Given the description of an element on the screen output the (x, y) to click on. 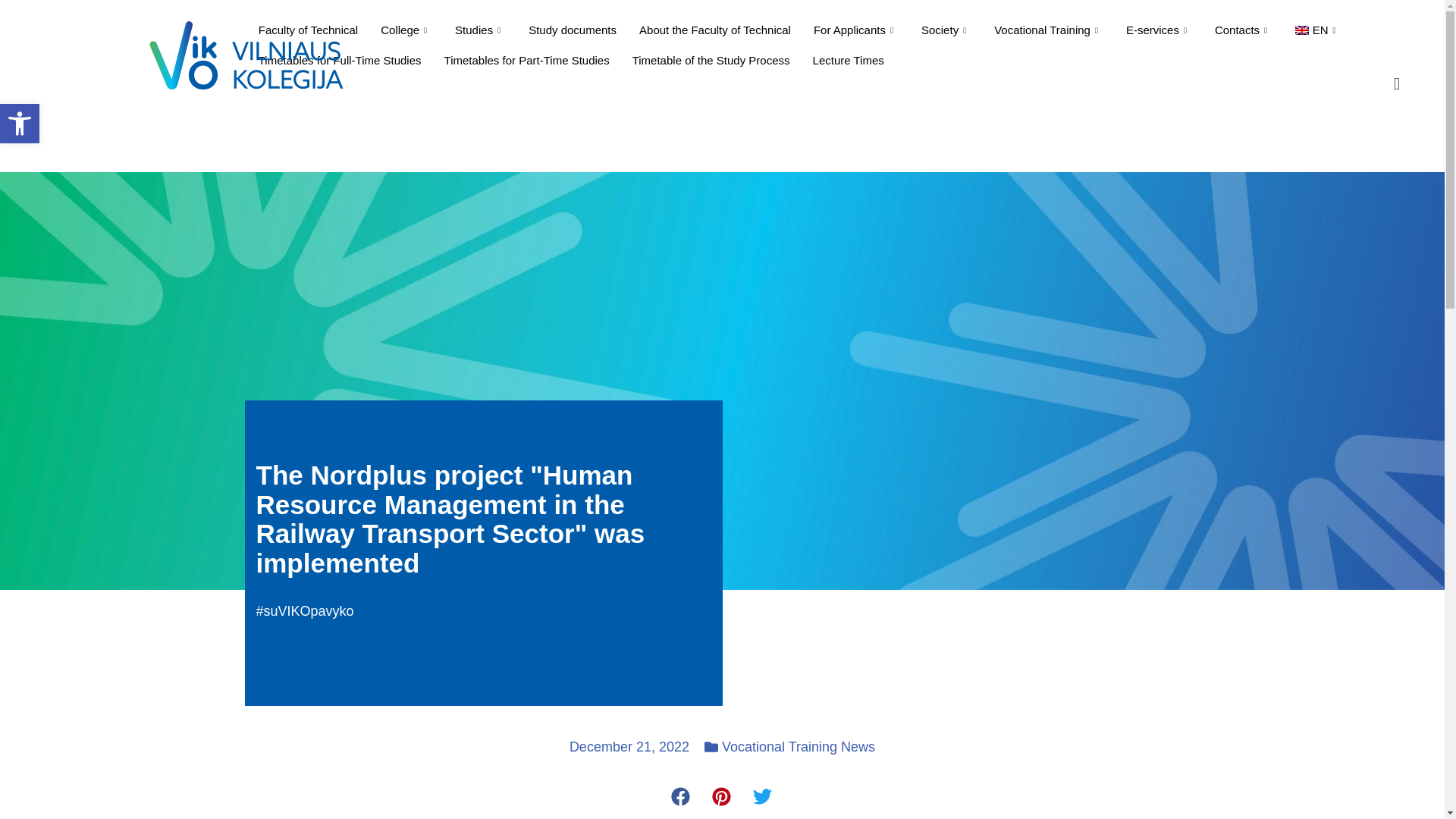
logo-en (245, 55)
EN (1318, 30)
Accessibility tools (19, 123)
Accessibility tools (19, 123)
